Given the description of an element on the screen output the (x, y) to click on. 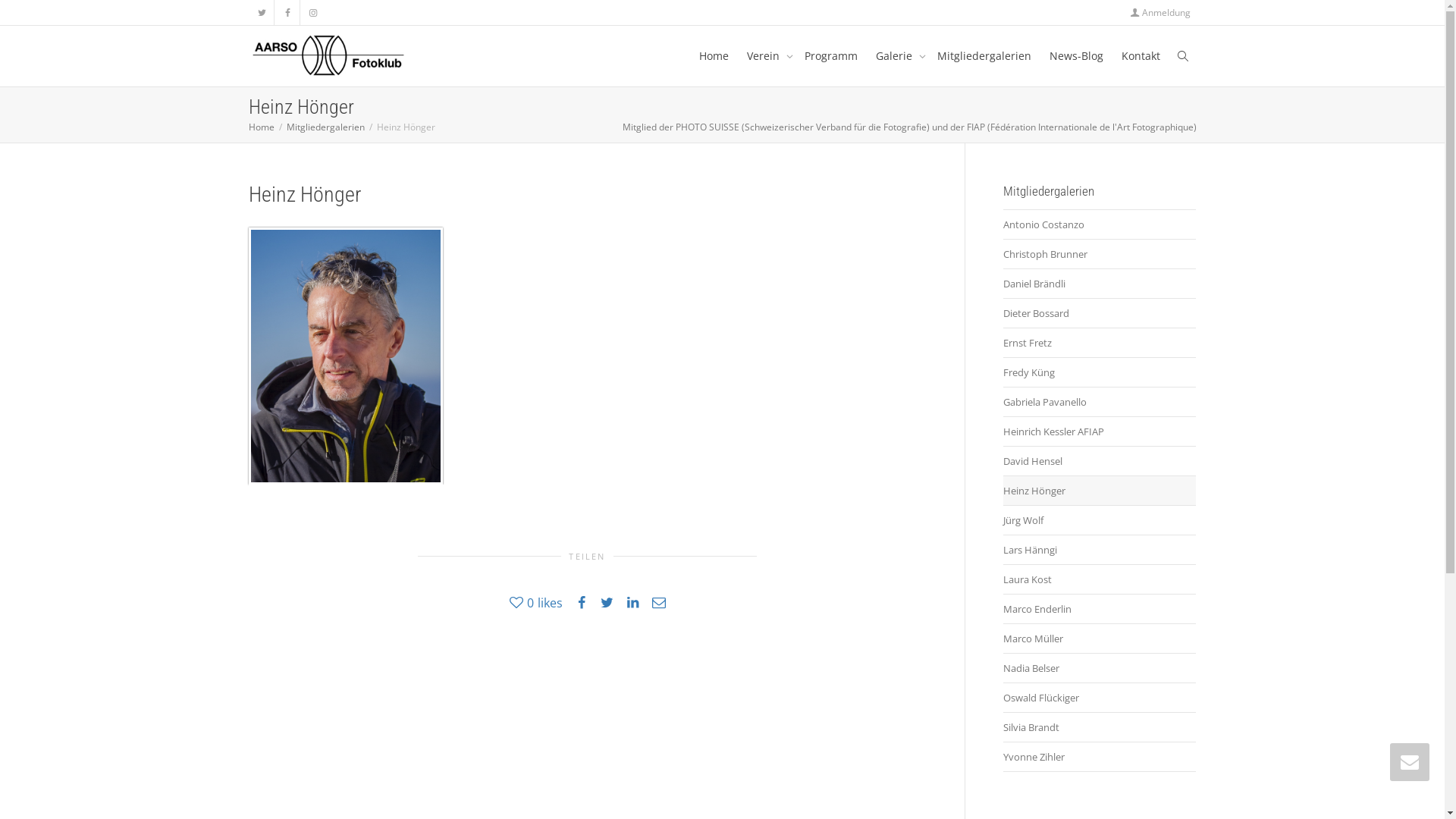
Nadia Belser Element type: text (1098, 668)
Christoph Brunner Element type: text (1098, 254)
Antonio Costanzo Element type: text (1098, 224)
Programm Element type: text (829, 55)
Silvia Brandt Element type: text (1098, 727)
News-Blog Element type: text (1076, 55)
Gabriela Pavanello Element type: text (1098, 402)
Yvonne Zihler Element type: text (1098, 756)
Anmeldung Element type: text (1159, 12)
Mitgliedergalerien Element type: text (325, 126)
Marco Enderlin Element type: text (1098, 609)
Mitgliedergalerien Element type: text (984, 55)
Verein Element type: text (765, 55)
Home Element type: text (261, 126)
David Hensel Element type: text (1098, 461)
Kontakt Element type: text (1139, 55)
Laura Kost Element type: text (1098, 579)
Galerie Element type: text (896, 55)
Home Element type: text (713, 55)
Ernst Fretz Element type: text (1098, 342)
0 likes Element type: text (535, 602)
Dieter Bossard Element type: text (1098, 313)
AARSO Element type: hover (328, 55)
Heinrich Kessler AFIAP Element type: text (1098, 431)
